Given the description of an element on the screen output the (x, y) to click on. 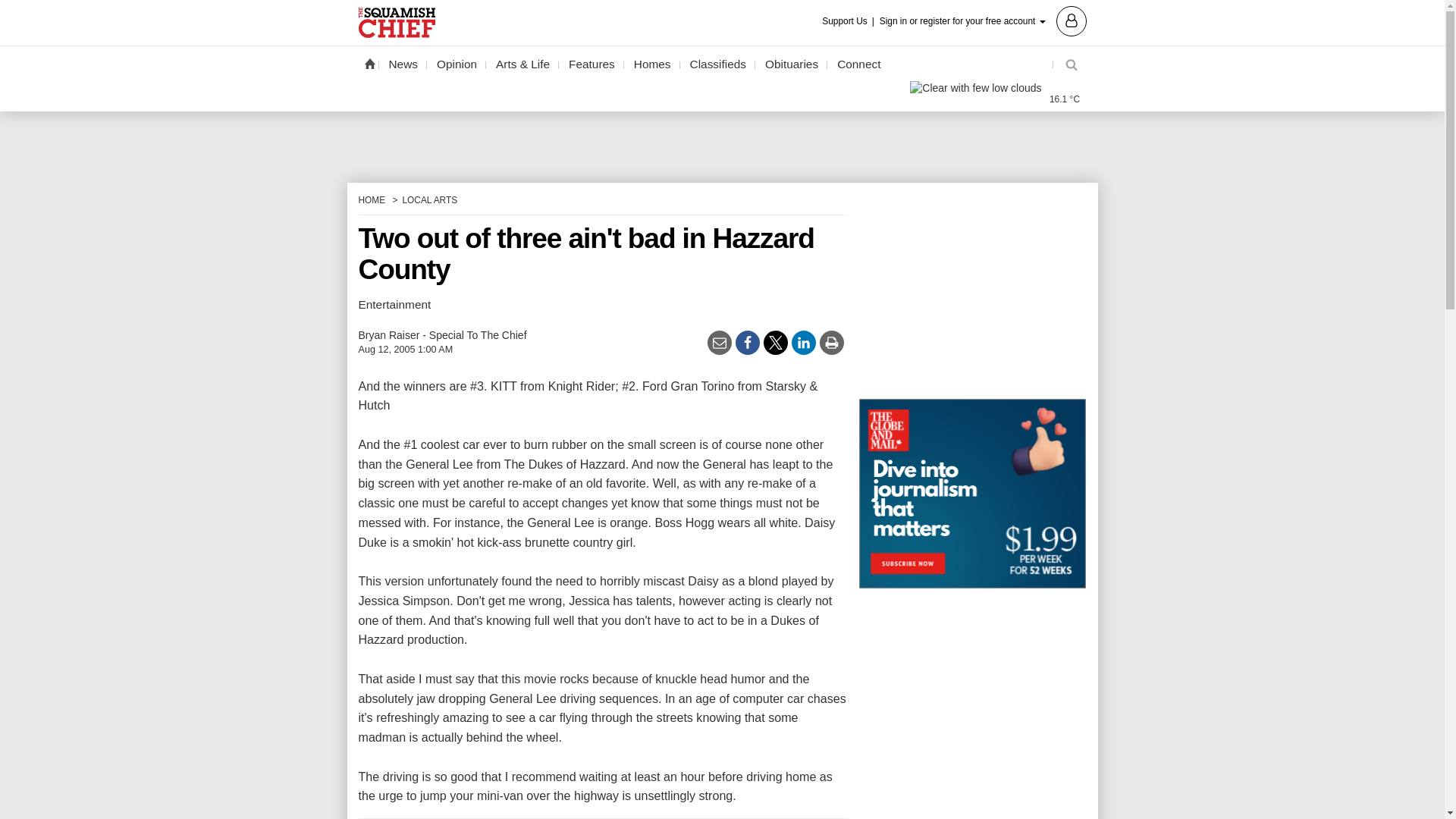
Opinion (456, 64)
Sign in or register for your free account (982, 20)
Home (368, 63)
News (403, 64)
Support Us (849, 21)
